Given the description of an element on the screen output the (x, y) to click on. 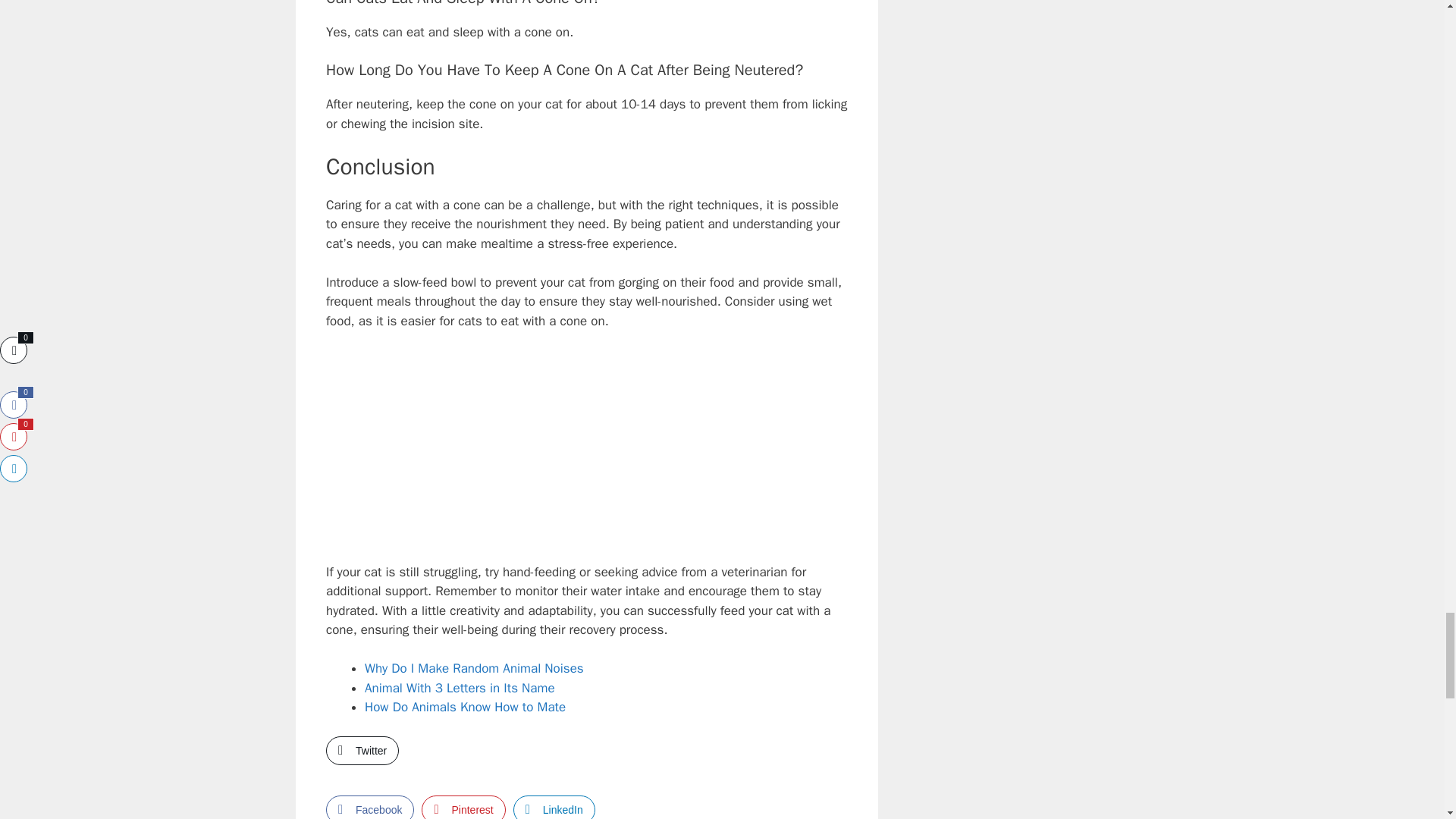
LinkedIn (554, 807)
How Do Animals Know How to Mate (465, 706)
Animal With 3 Letters in Its Name (459, 688)
Pinterest (463, 807)
Why Do I Make Random Animal Noises (474, 668)
Facebook (369, 807)
Twitter (362, 750)
